Given the description of an element on the screen output the (x, y) to click on. 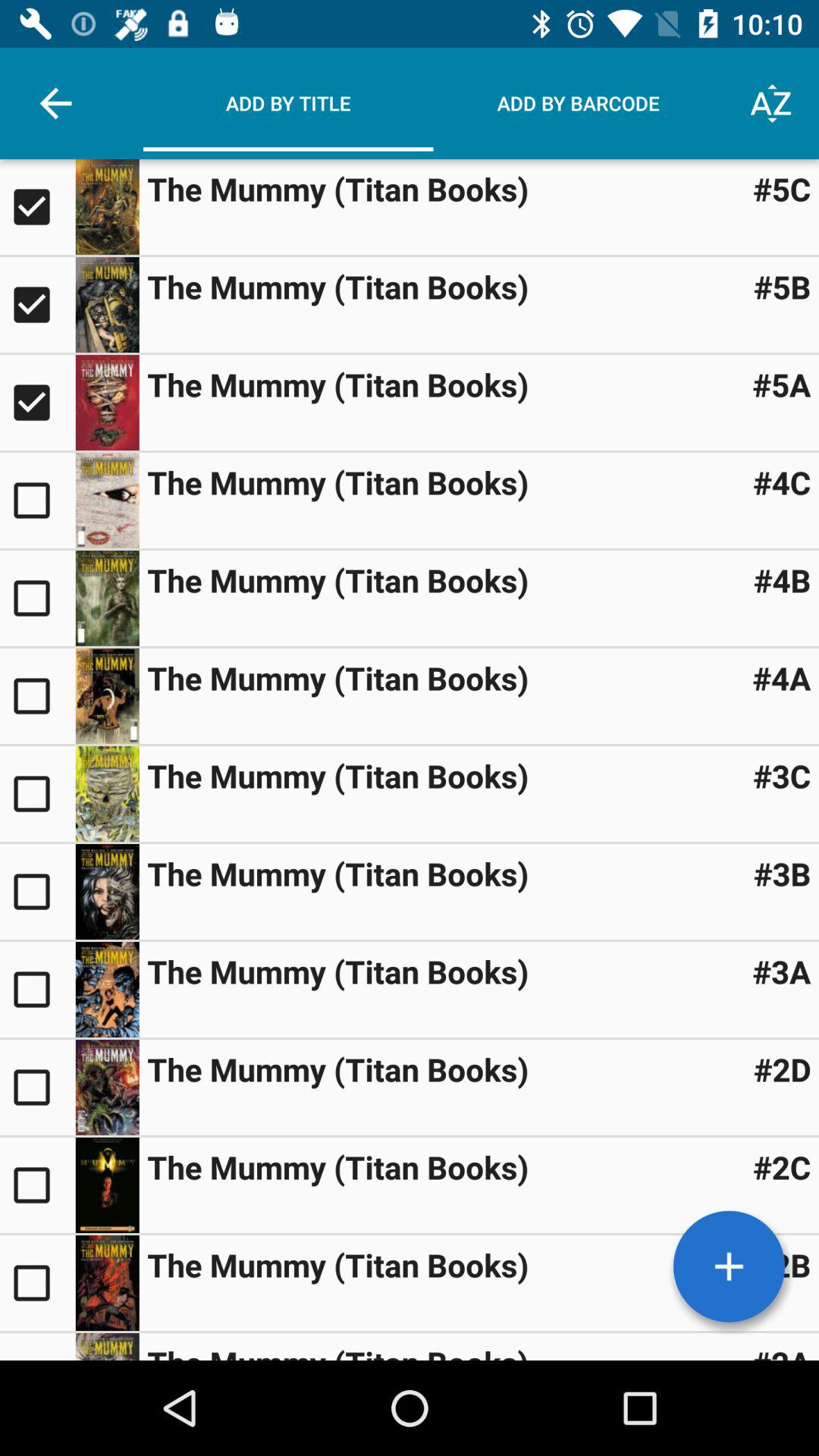
select check box (37, 793)
